Given the description of an element on the screen output the (x, y) to click on. 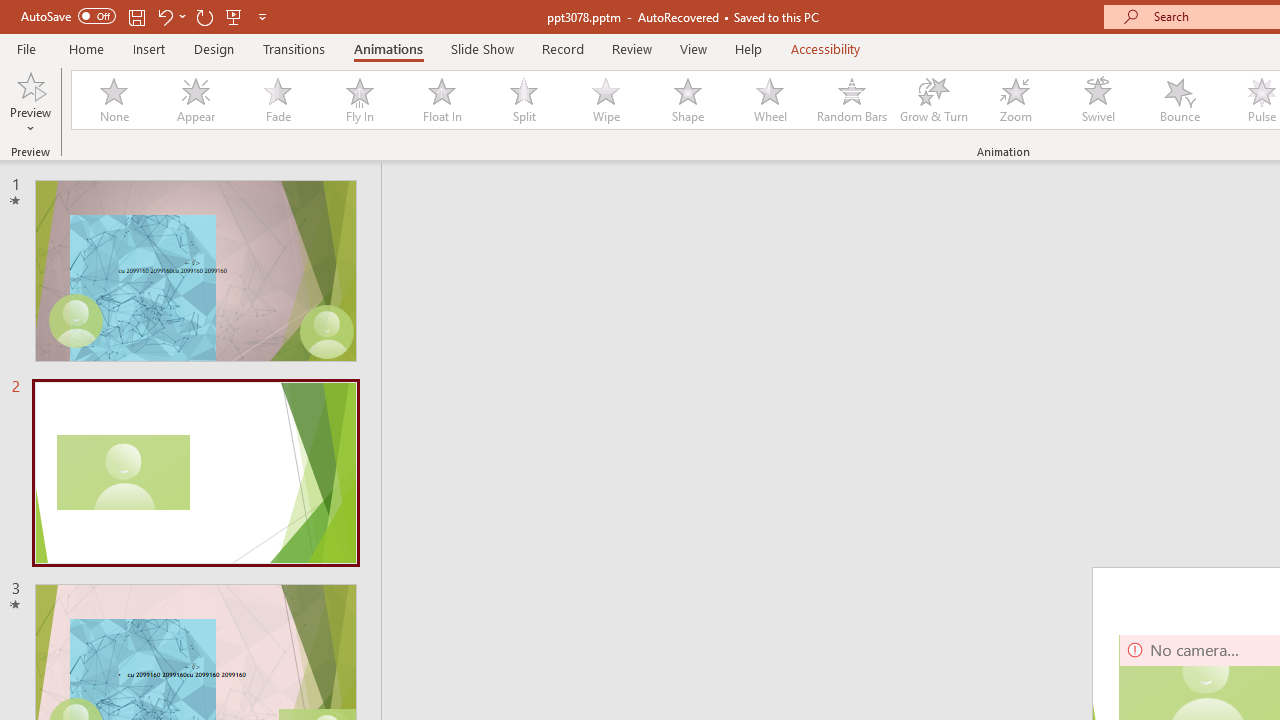
Float In (441, 100)
Wipe (605, 100)
Fly In (359, 100)
Appear (195, 100)
Bounce (1180, 100)
Random Bars (852, 100)
Save (136, 15)
Shape (687, 100)
Redo (204, 15)
AutoSave (68, 16)
None (113, 100)
Preview (30, 84)
Design (214, 48)
